Given the description of an element on the screen output the (x, y) to click on. 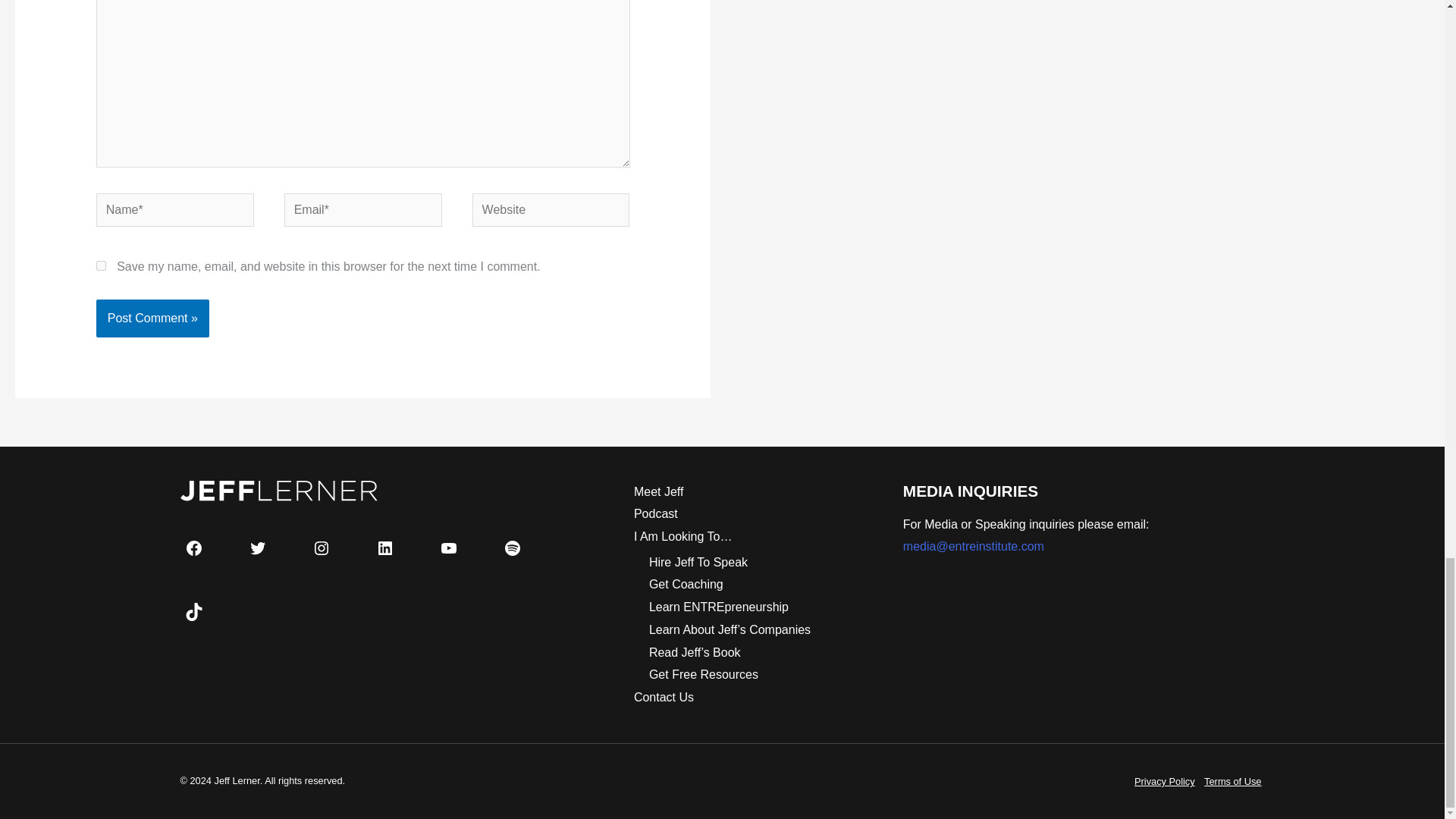
Customer reviews powered by Trustpilot (267, 669)
reviews (719, 606)
yes (101, 266)
